Given the description of an element on the screen output the (x, y) to click on. 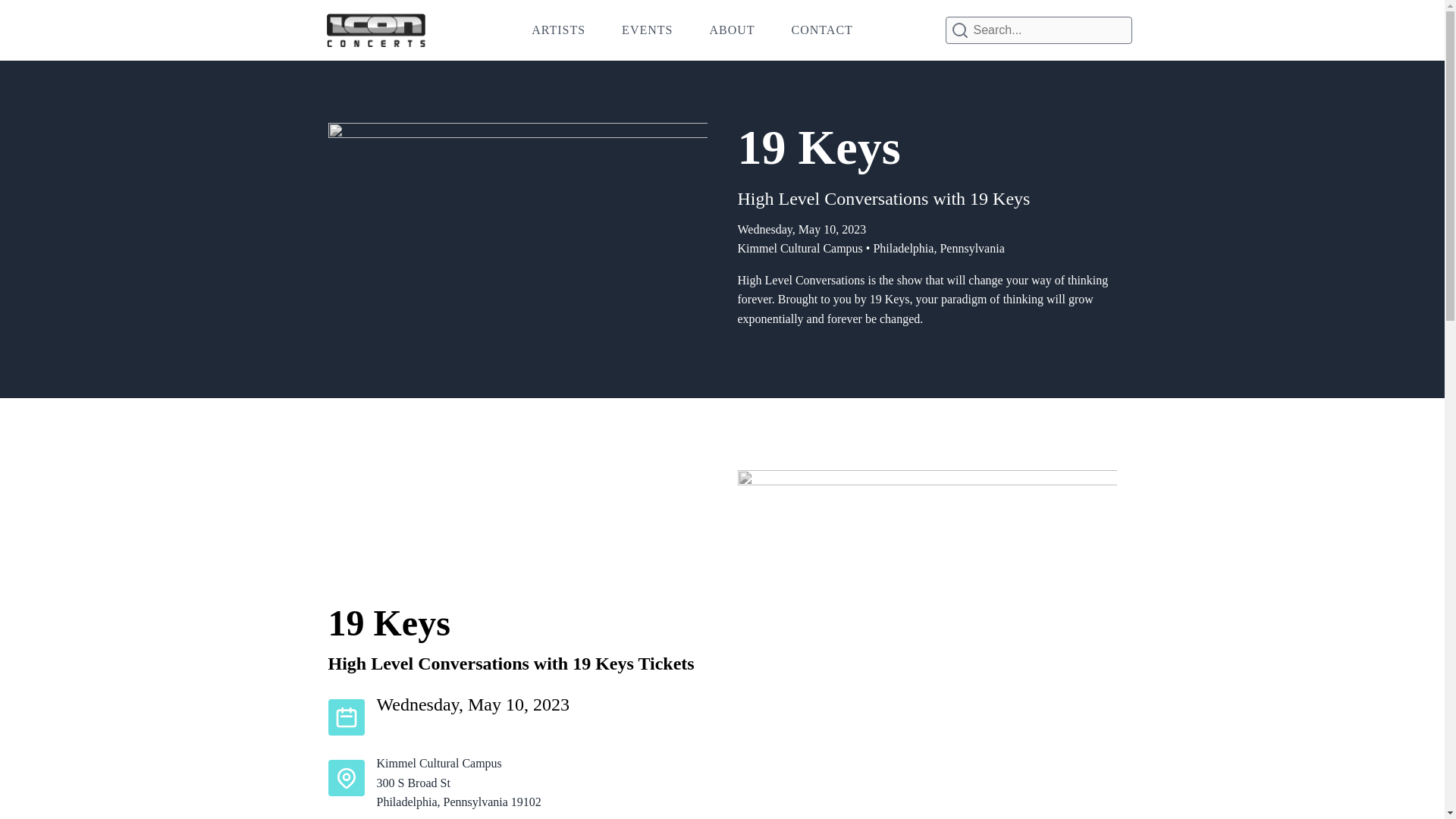
Search (31, 13)
ARTISTS (558, 30)
EVENTS (647, 30)
ABOUT (731, 30)
CONTACT (821, 30)
